Given the description of an element on the screen output the (x, y) to click on. 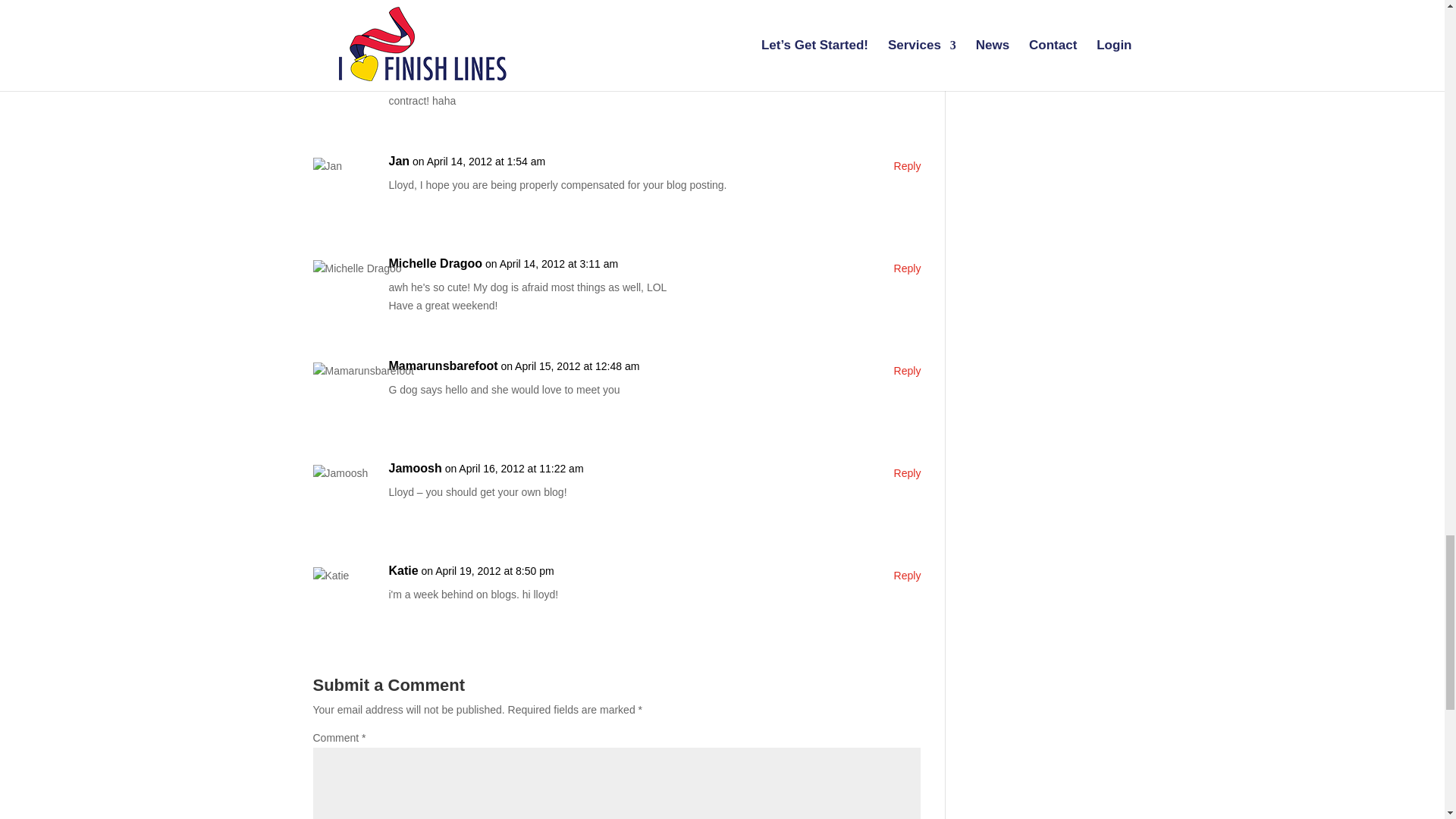
Reply (907, 167)
Katie (402, 570)
Jordan (408, 58)
Jan (398, 161)
Reply (907, 371)
Michelle Dragoo (434, 263)
Reply (907, 576)
Mamarunsbarefoot (442, 366)
Jamoosh (414, 468)
Reply (907, 64)
Reply (907, 474)
Reply (907, 269)
